Given the description of an element on the screen output the (x, y) to click on. 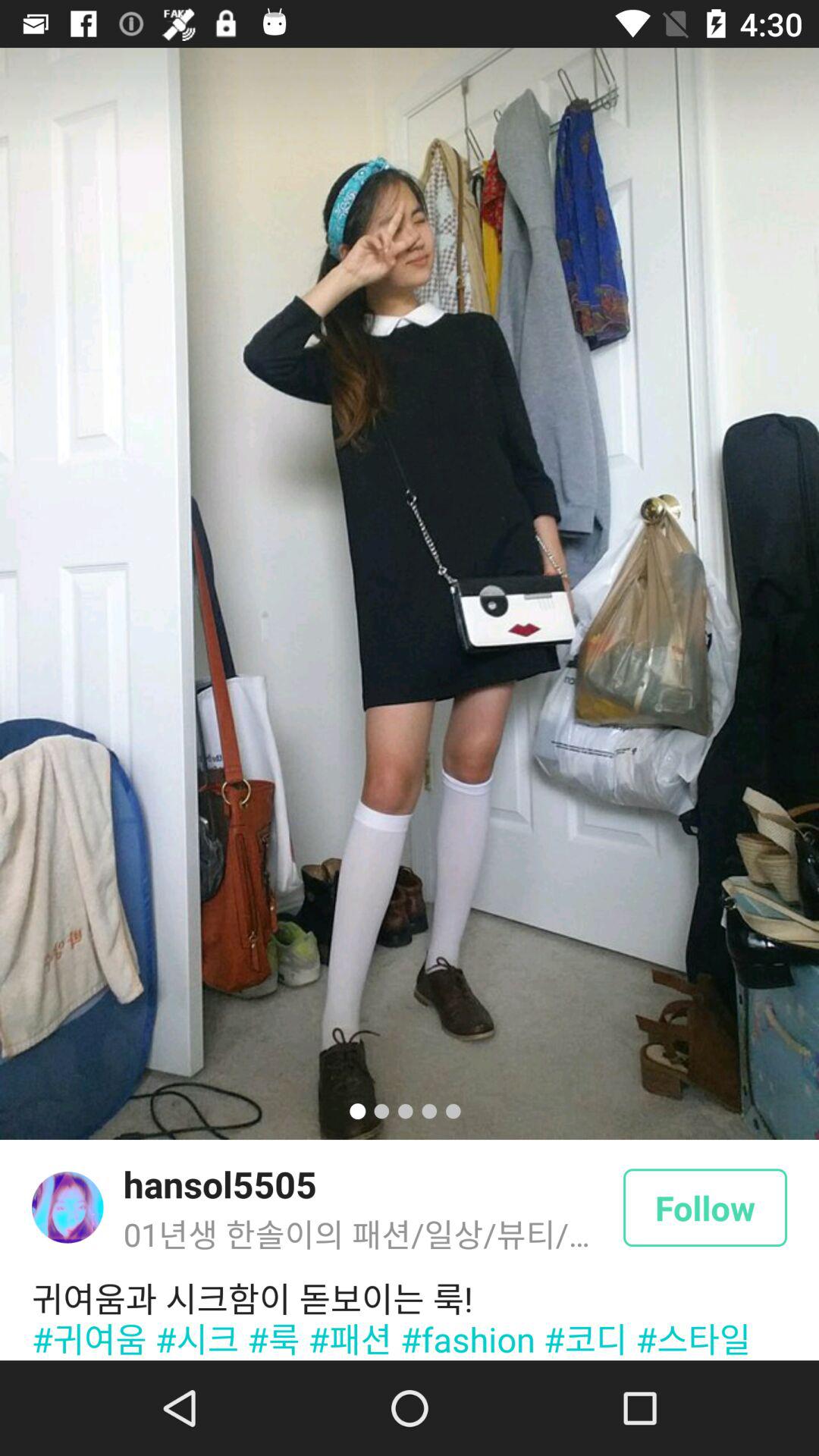
select the icon next to follow item (219, 1183)
